Given the description of an element on the screen output the (x, y) to click on. 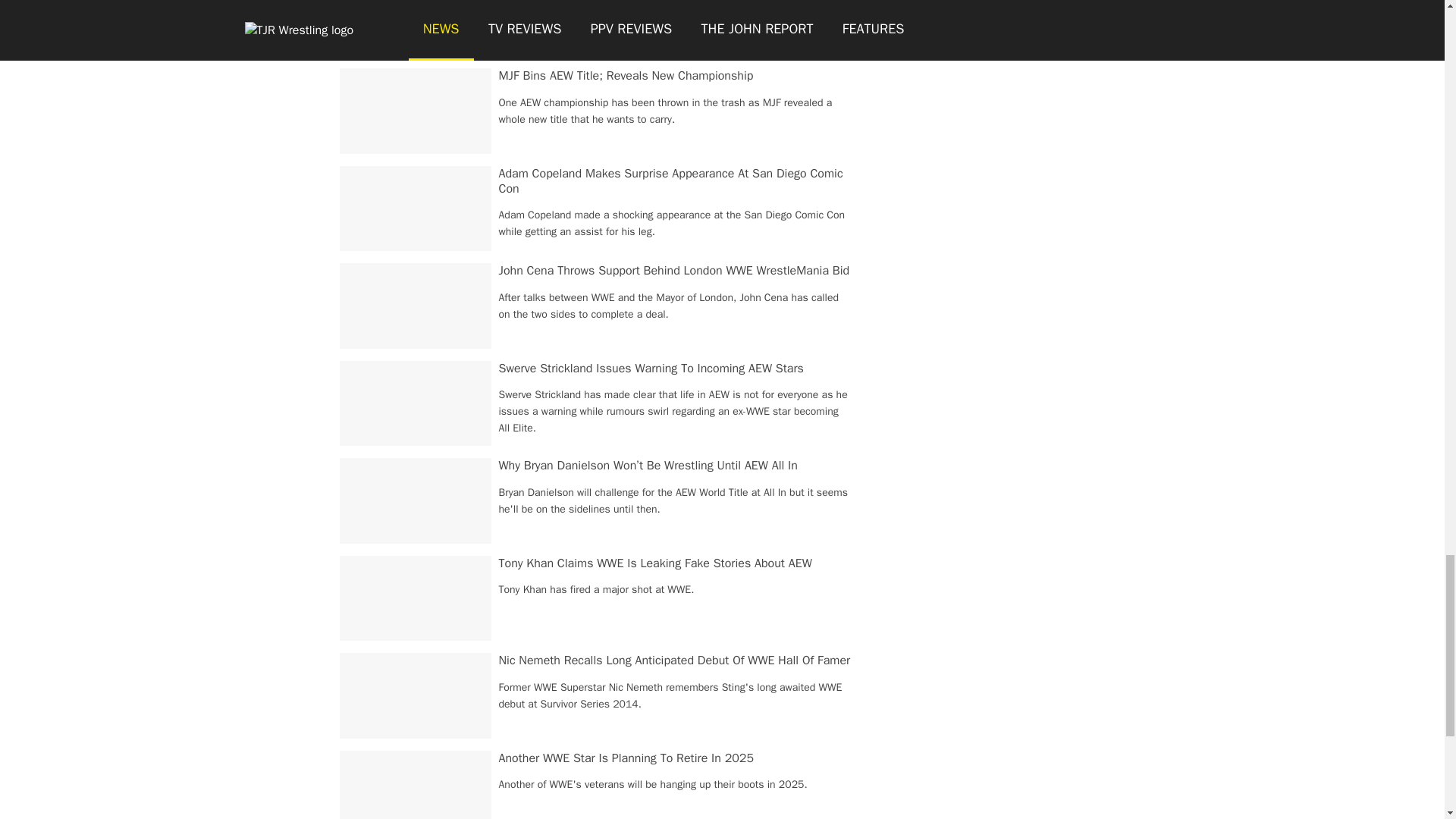
John Cena Throws Support Behind London WWE WrestleMania Bid (674, 270)
Swerve Strickland Issues Warning To Incoming AEW Stars (651, 368)
itrwrestling.com (416, 1)
Tony Khan Claims WWE Is Leaking Fake Stories About AEW (655, 563)
MJF Bins AEW Title; Reveals New Championship (626, 75)
